Given the description of an element on the screen output the (x, y) to click on. 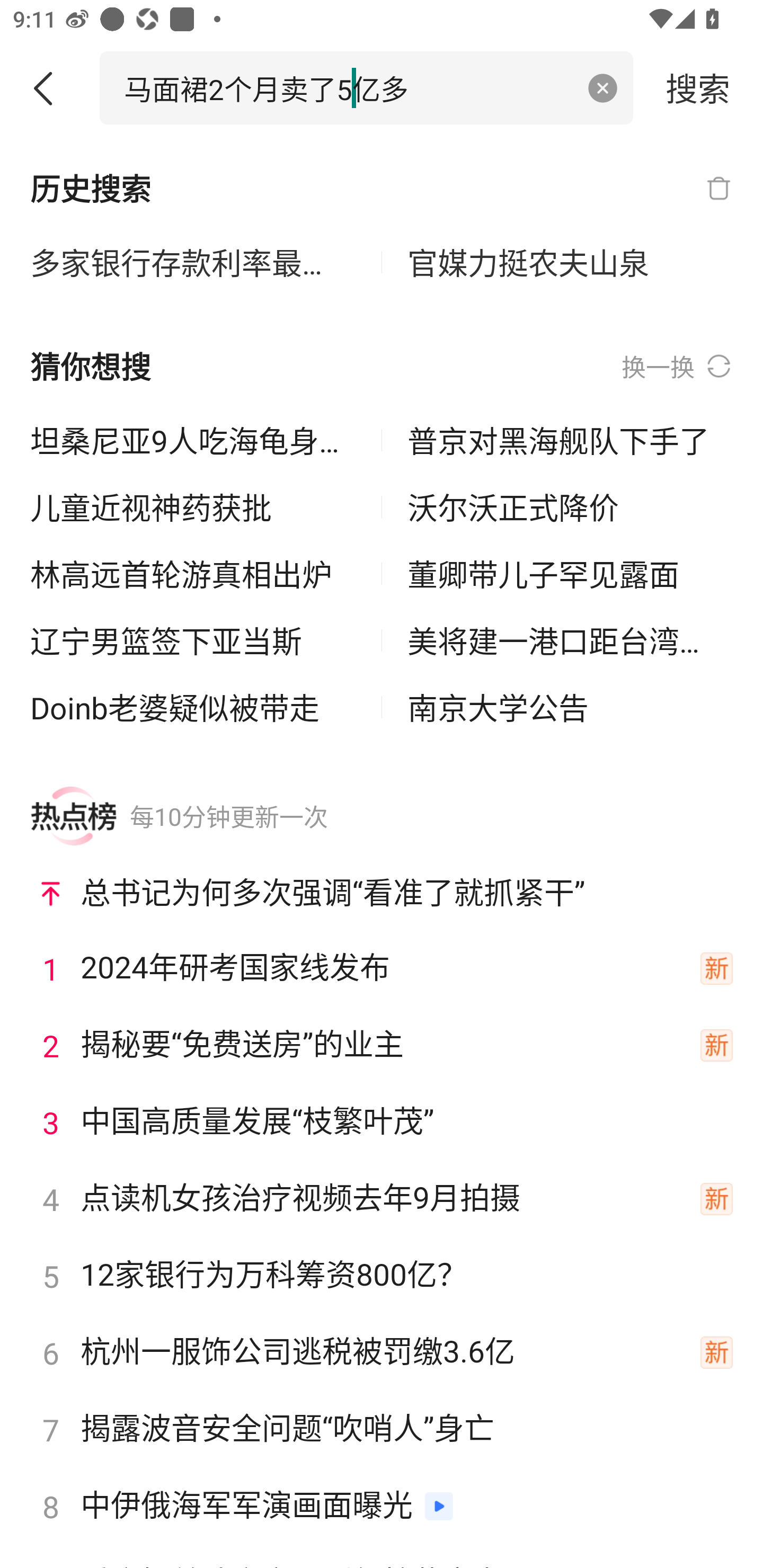
返回 (49, 87)
搜索 (698, 87)
马面裙2个月卖了5亿多 (347, 87)
清空 (602, 88)
多家银行存款利率最高达10% (193, 262)
官媒力挺农夫山泉 (569, 262)
换一换 (676, 366)
坦桑尼亚9人吃海龟身亡 (193, 439)
普京对黑海舰队下手了 (569, 439)
儿童近视神药获批 (193, 506)
沃尔沃正式降价 (569, 506)
林高远首轮游真相出炉 (193, 573)
董卿带儿子罕见露面 (569, 573)
辽宁男篮签下亚当斯 (193, 640)
美将建一港口距台湾不到200公里 (569, 640)
Doinb老婆疑似被带走 (193, 707)
南京大学公告 (569, 707)
